Given the description of an element on the screen output the (x, y) to click on. 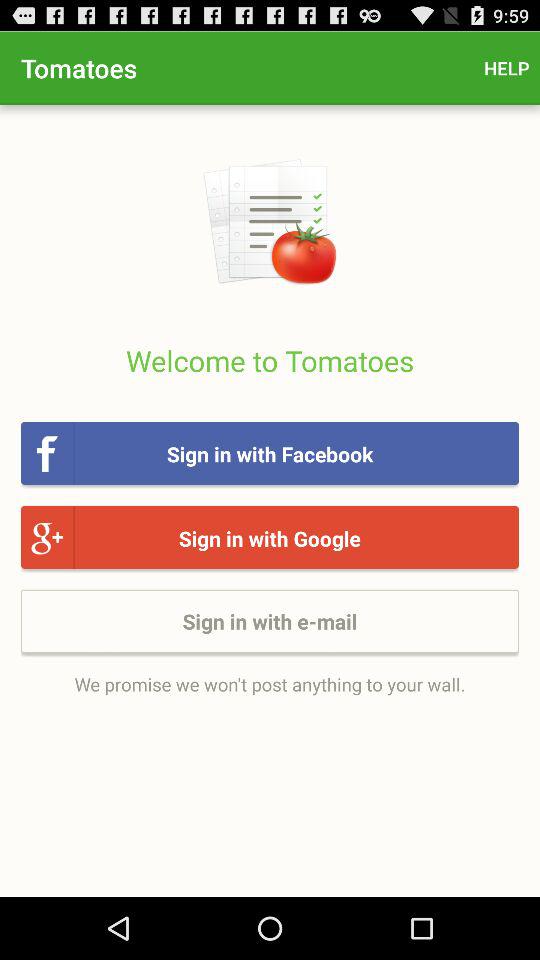
turn off app to the right of the tomatoes icon (506, 67)
